Given the description of an element on the screen output the (x, y) to click on. 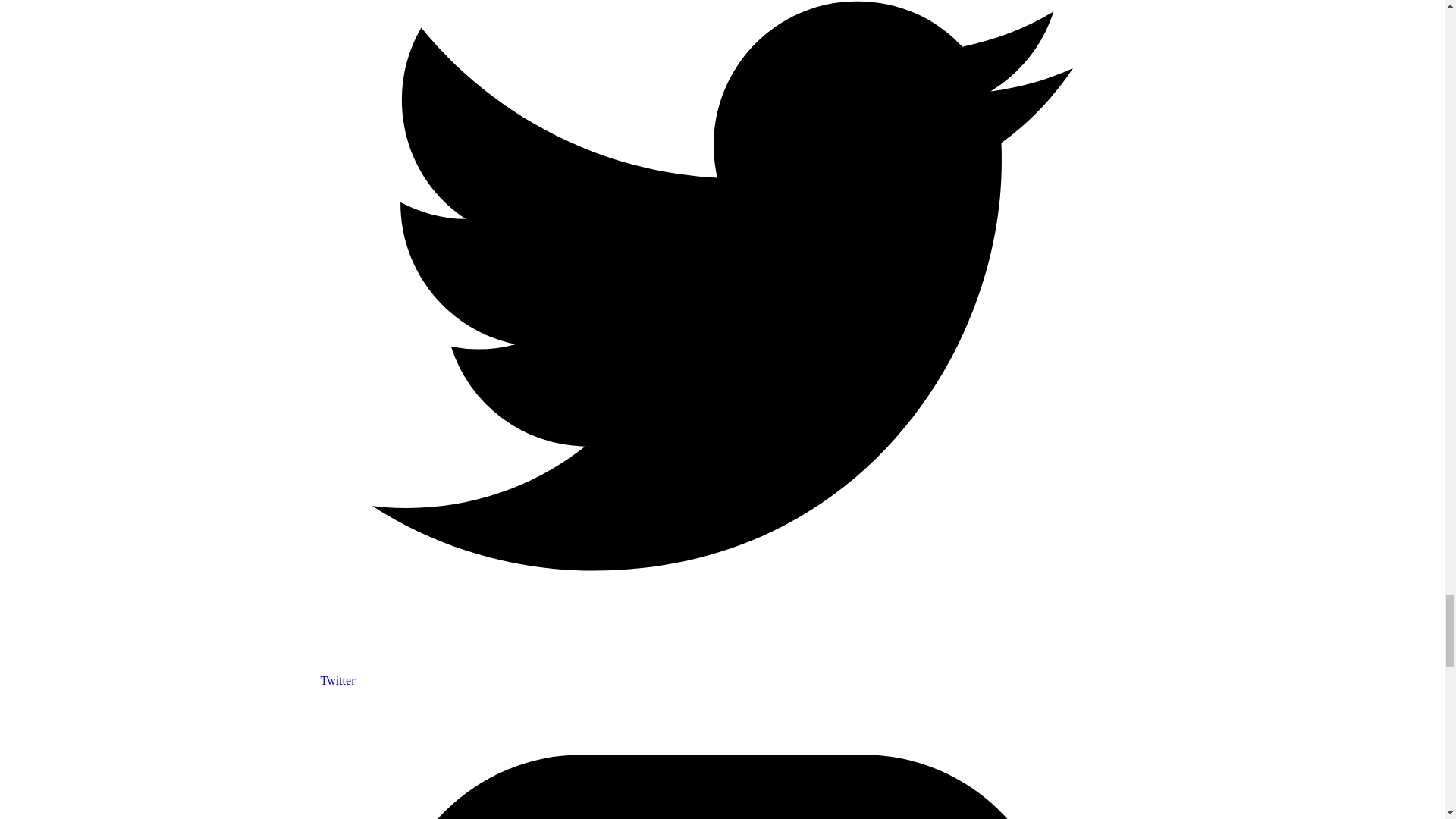
Twitter (722, 673)
